Given the description of an element on the screen output the (x, y) to click on. 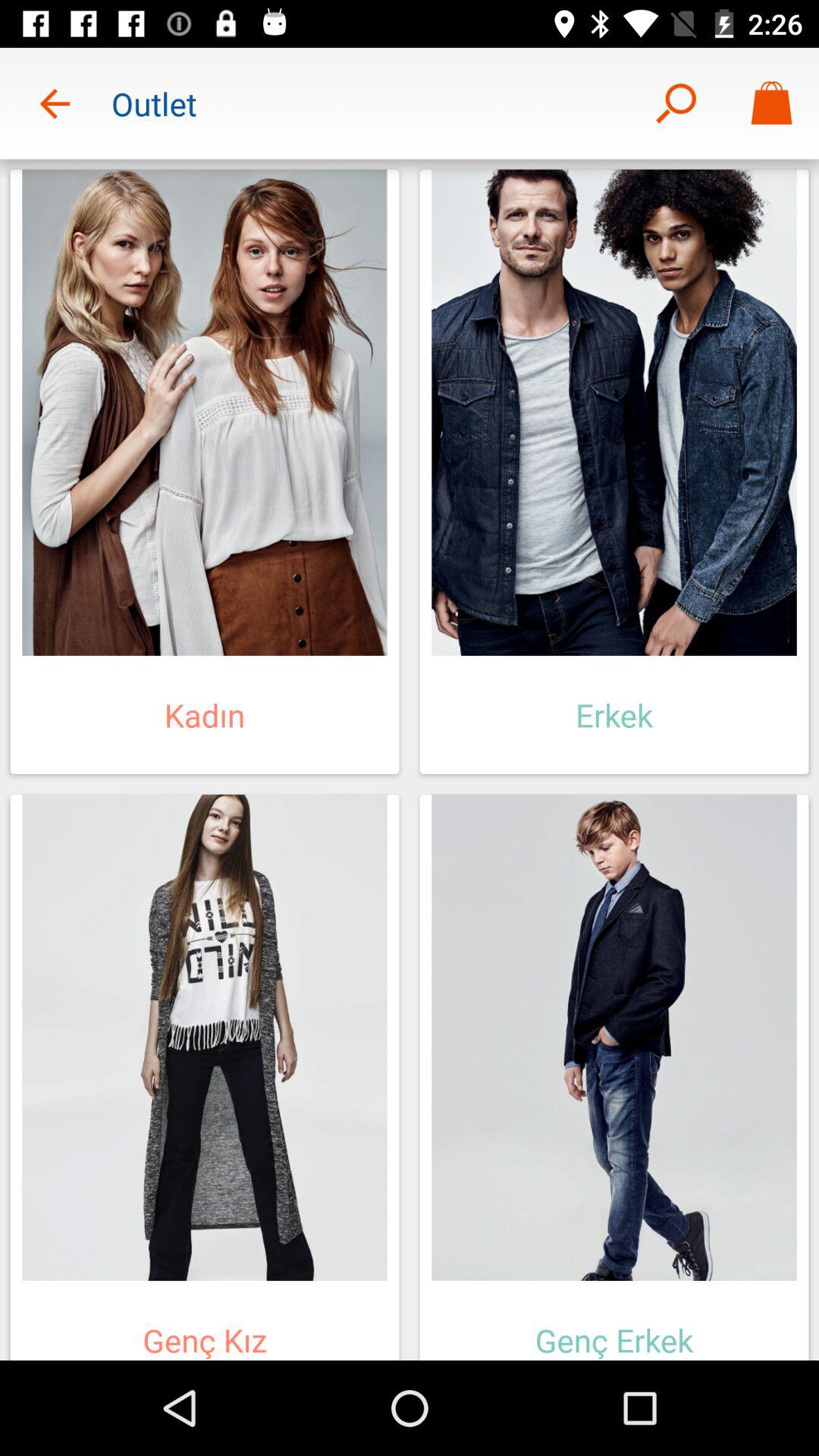
turn off item to the left of outlet (55, 103)
